Given the description of an element on the screen output the (x, y) to click on. 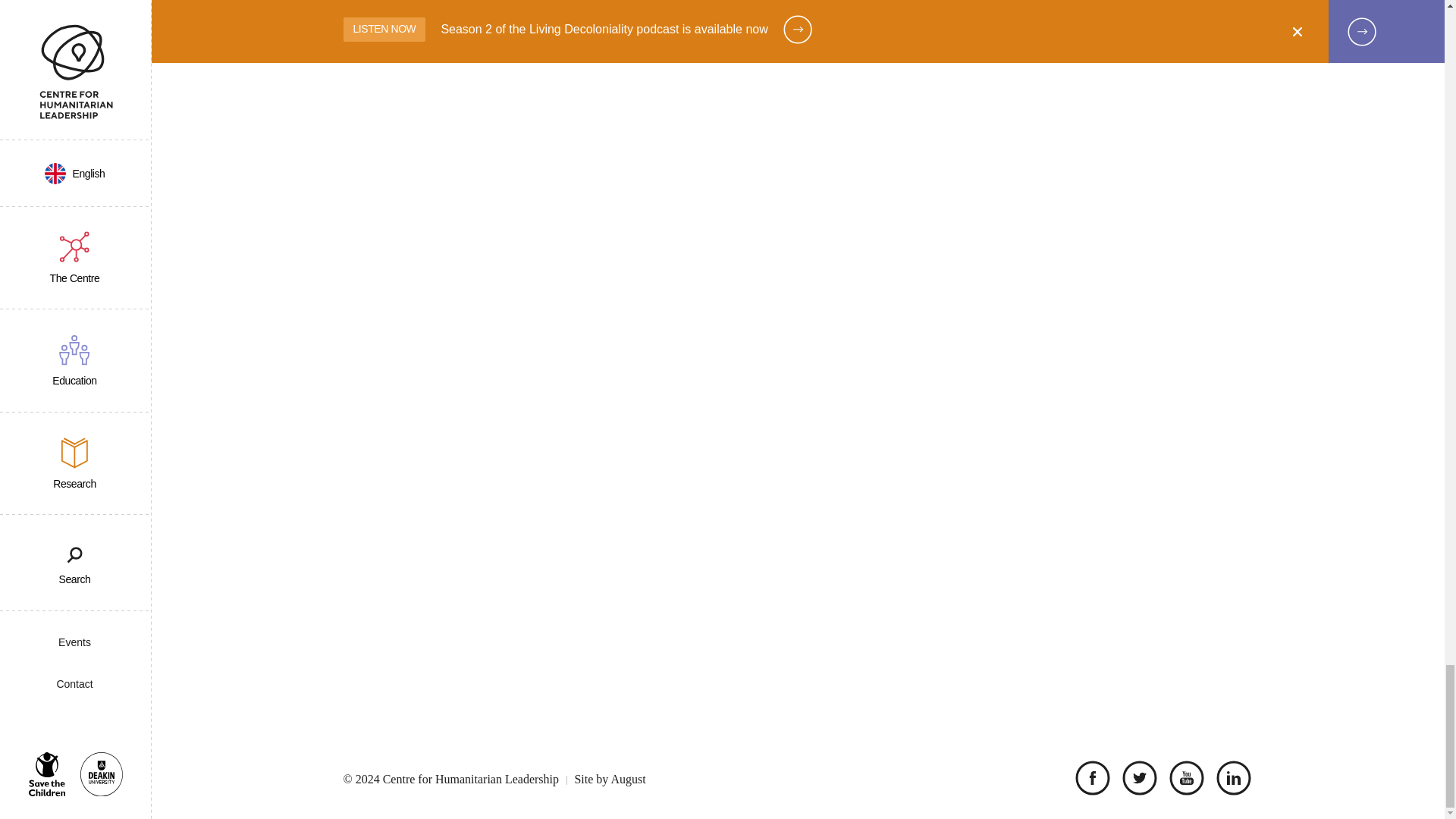
View our LinkedIn (1230, 779)
August (627, 780)
View our channel on Youtube (1182, 779)
Follow us on Twitter (1135, 779)
Like us on Facebook (1088, 779)
